Given the description of an element on the screen output the (x, y) to click on. 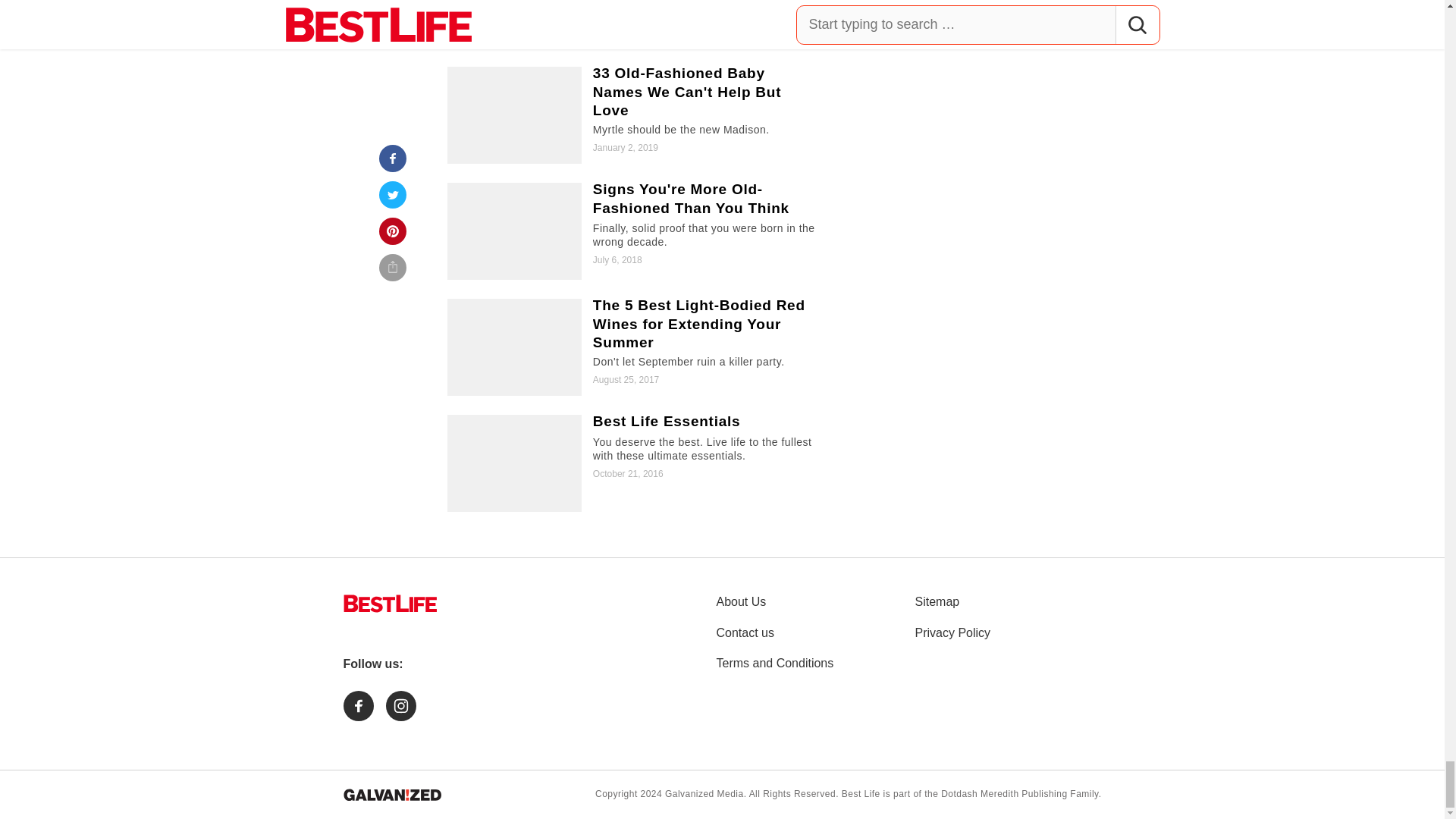
33 Old-Fashioned Baby Names We Can't Help But Love (635, 114)
60 Words Pronounced Differently Across the U.S. (635, 23)
Signs You're More Old-Fashioned Than You Think (635, 231)
The 5 Best Light-Bodied Red Wines for Extending Your Summer (635, 346)
